Given the description of an element on the screen output the (x, y) to click on. 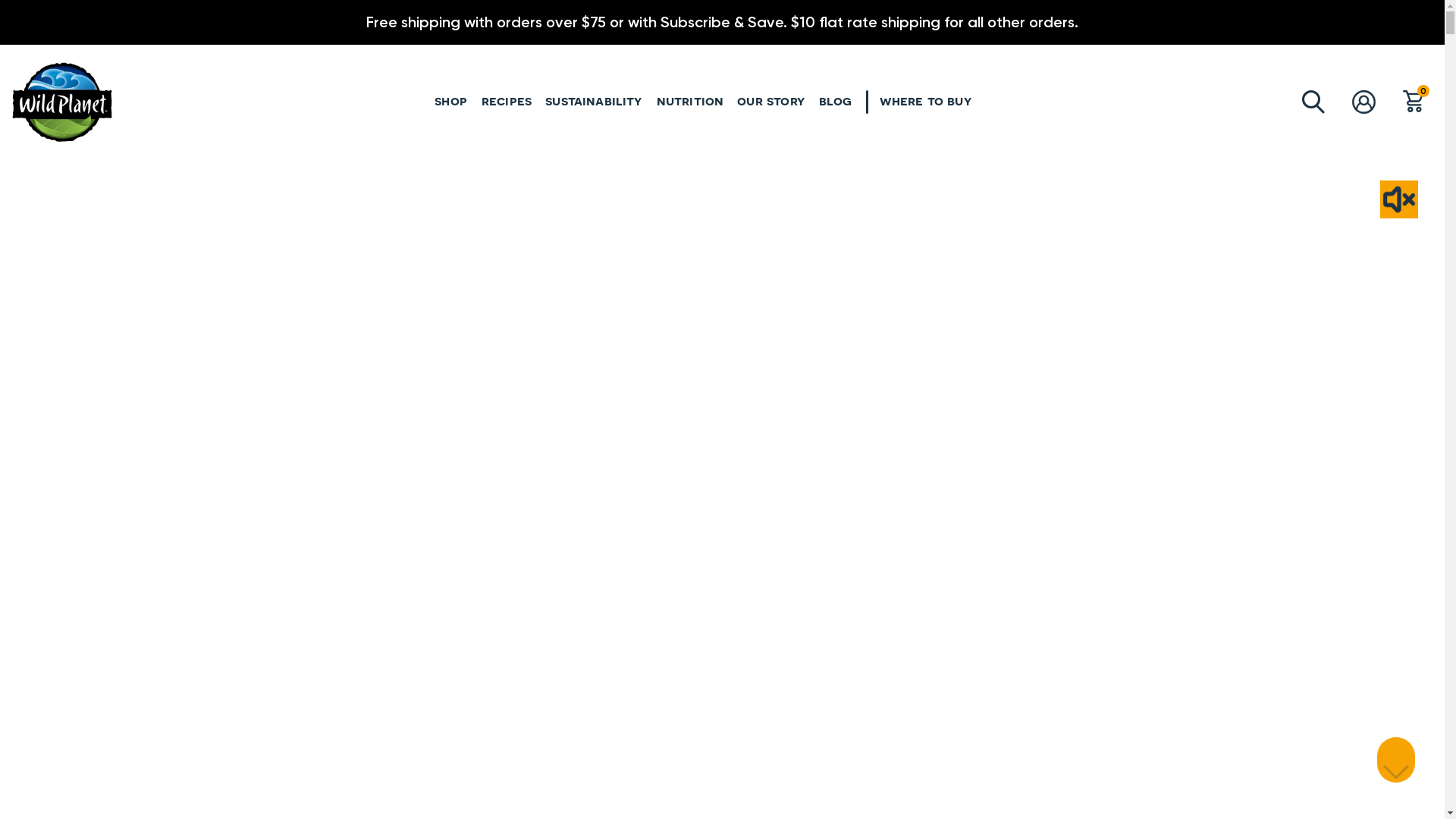
recipes Element type: text (506, 99)
blog Element type: text (835, 99)
shop Element type: text (450, 100)
where to buy Element type: text (925, 99)
our story Element type: text (771, 100)
sustainability Element type: text (594, 100)
nutrition Element type: text (690, 99)
